Given the description of an element on the screen output the (x, y) to click on. 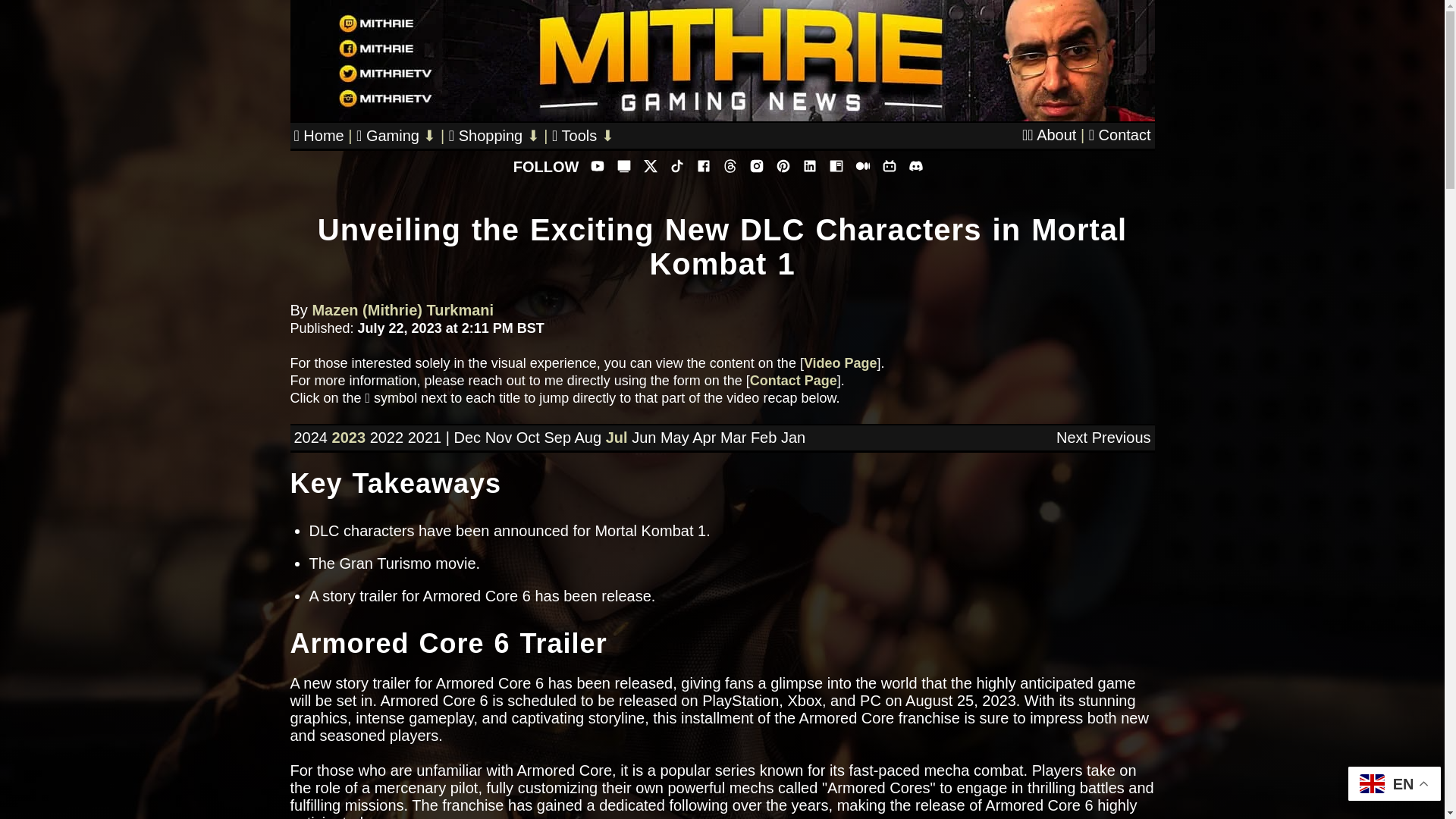
Dec (466, 437)
2022 (386, 437)
Video Page (840, 363)
Contact Page (793, 380)
2021 (424, 437)
2024 (311, 437)
